Given the description of an element on the screen output the (x, y) to click on. 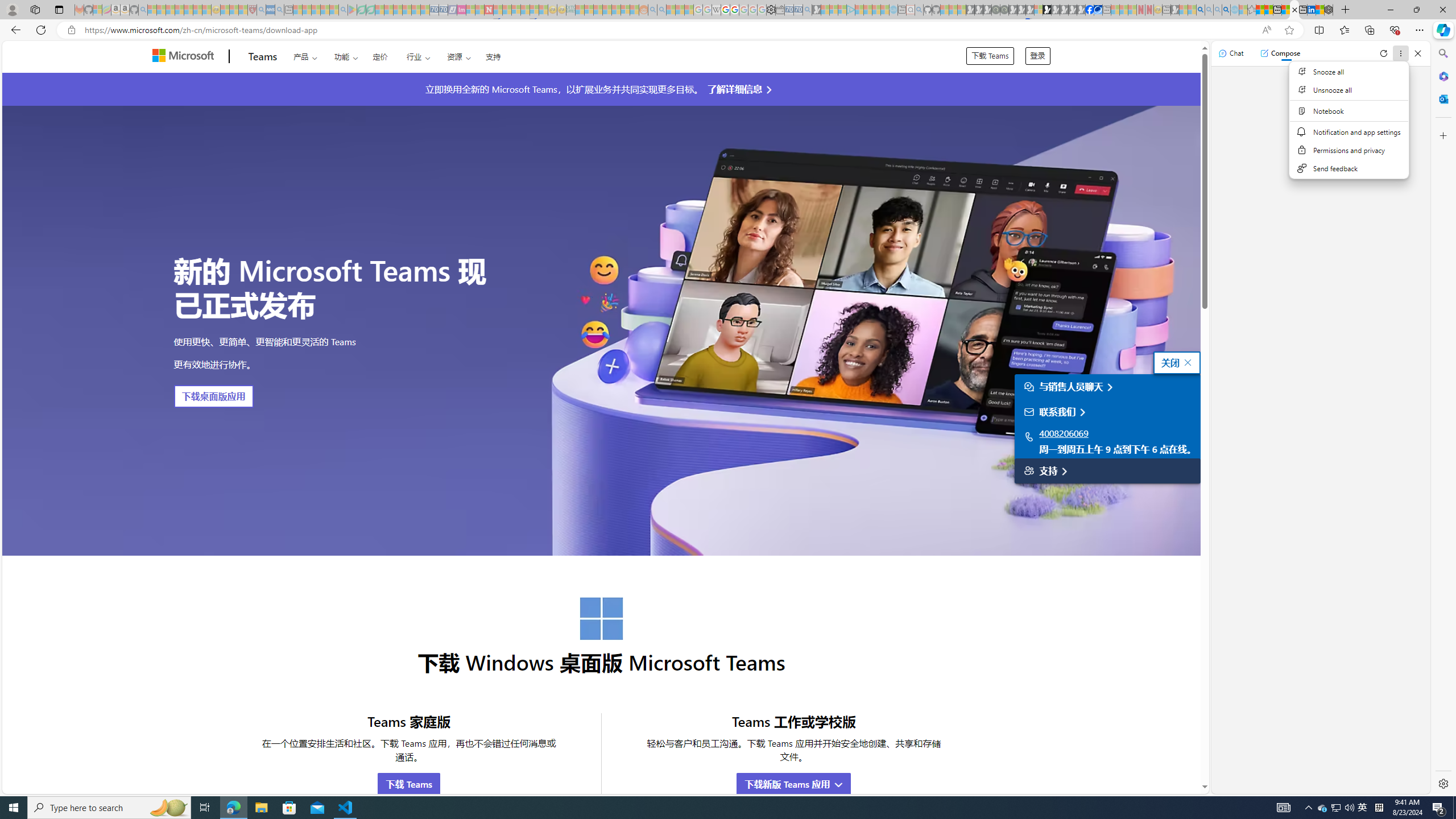
Sign in to your account - Sleeping (1038, 9)
Aberdeen, Hong Kong SAR weather forecast | Microsoft Weather (1268, 9)
